Given the description of an element on the screen output the (x, y) to click on. 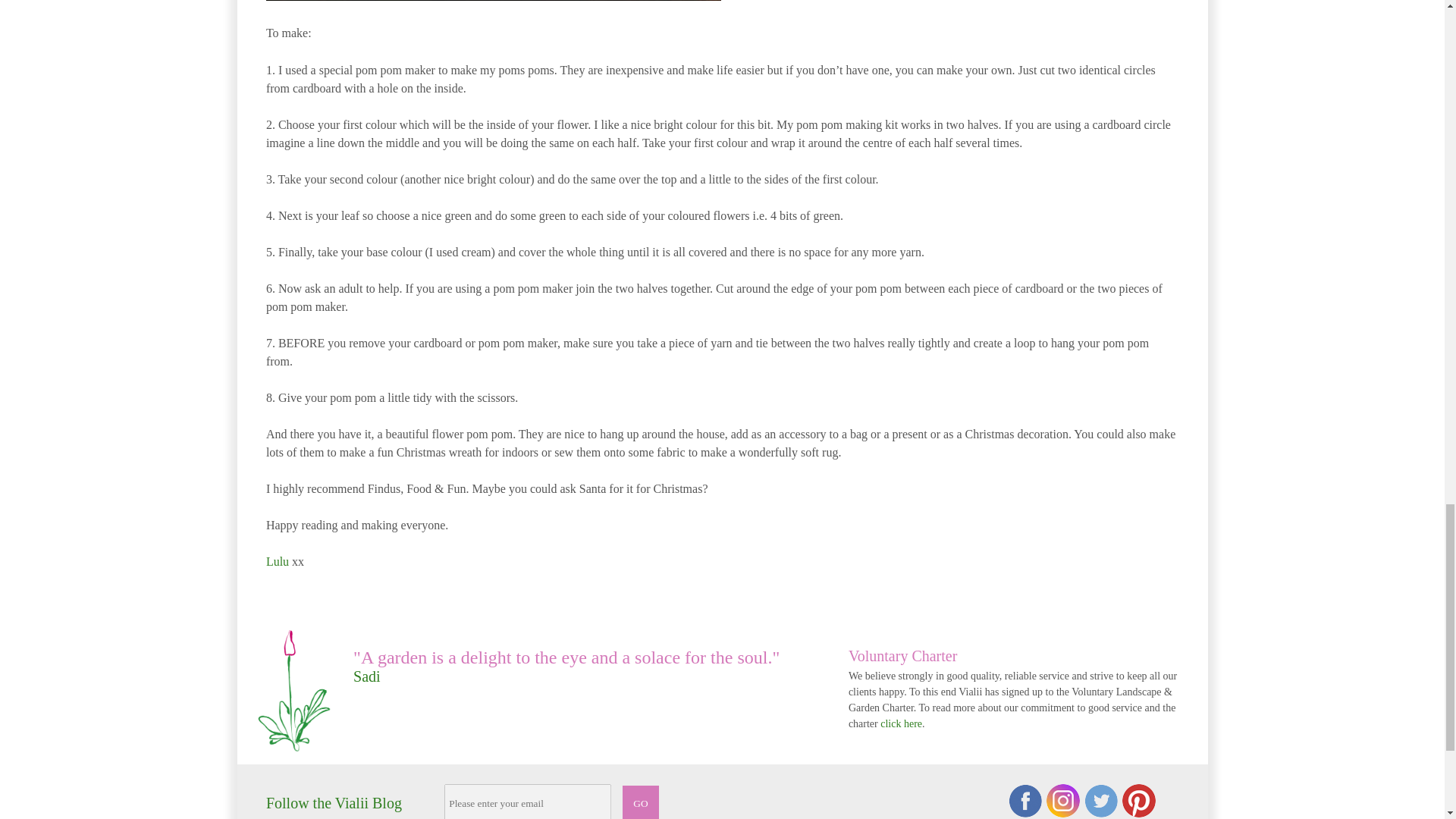
click here (900, 723)
GO (641, 802)
GO (641, 802)
Lulu (277, 561)
